Given the description of an element on the screen output the (x, y) to click on. 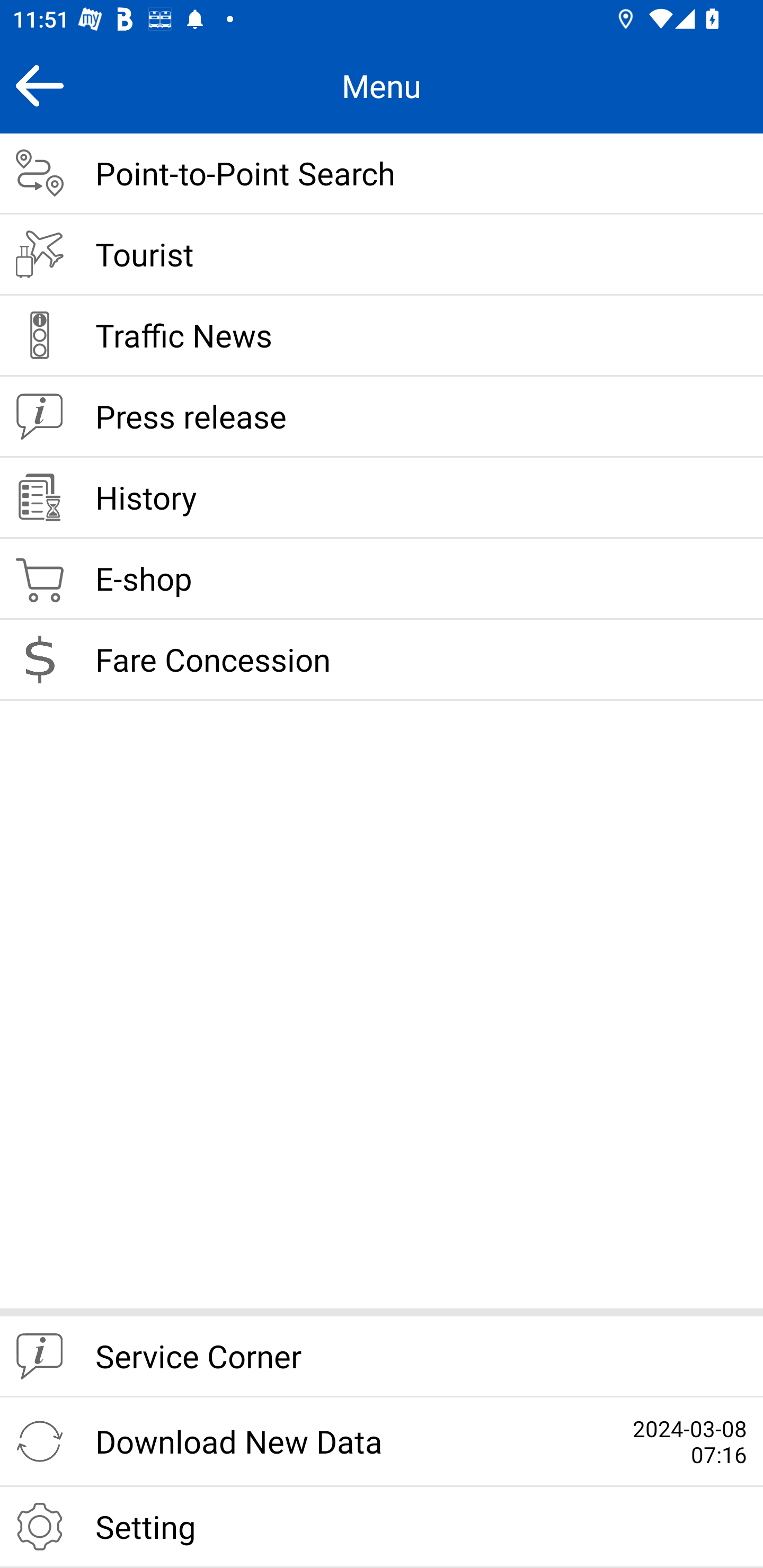
Back (39, 85)
Point-to-Point Search (381, 173)
Tourist (381, 255)
Traffic News (381, 336)
Press release (381, 416)
History (381, 498)
E-shop (381, 579)
Fare Concession (381, 659)
Service Corner (381, 1357)
Download New Data 2024-03-08
07:16 (381, 1441)
Setting (381, 1527)
